Given the description of an element on the screen output the (x, y) to click on. 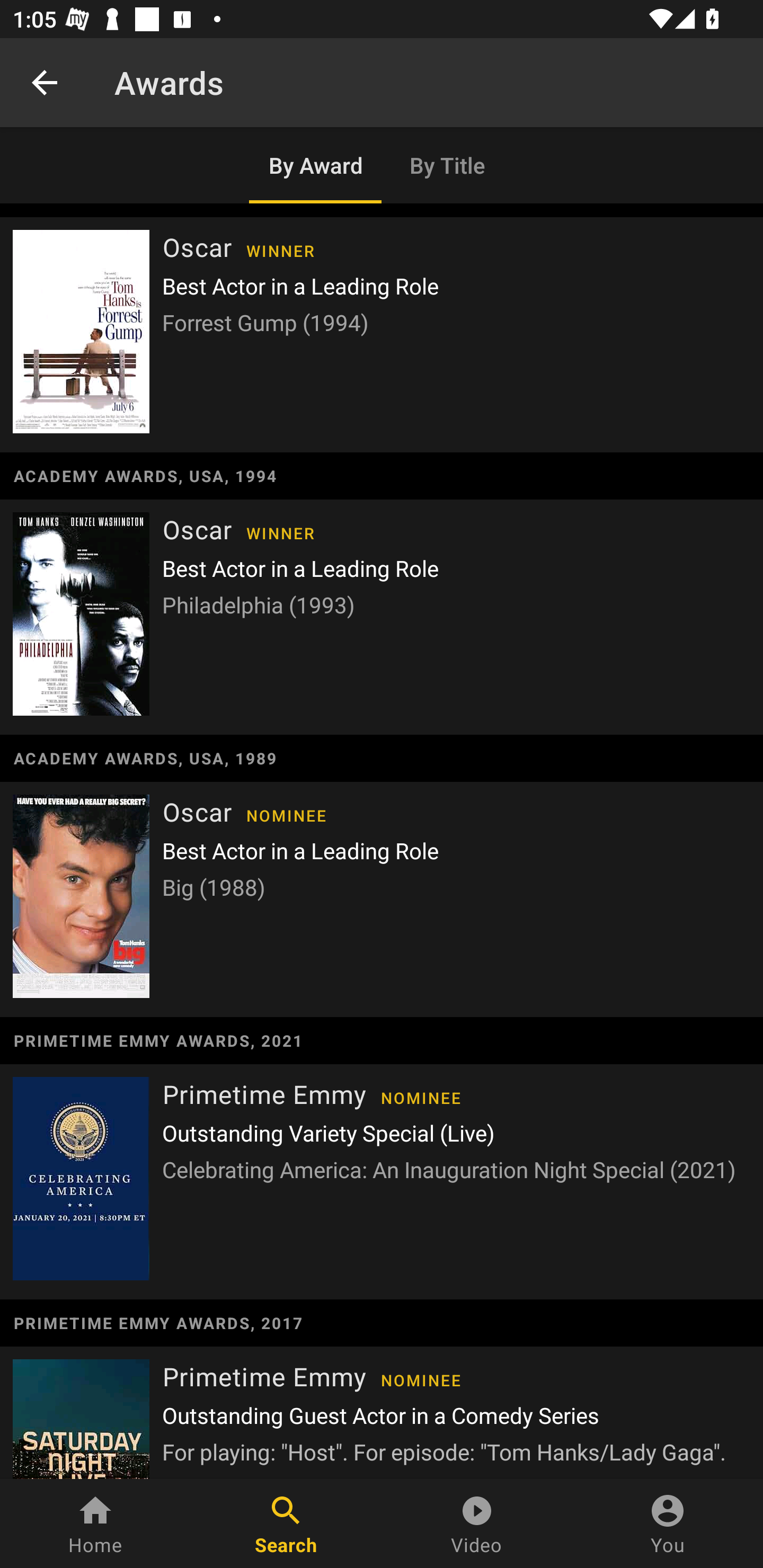
By Title (447, 165)
Home (95, 1523)
Video (476, 1523)
You (667, 1523)
